Given the description of an element on the screen output the (x, y) to click on. 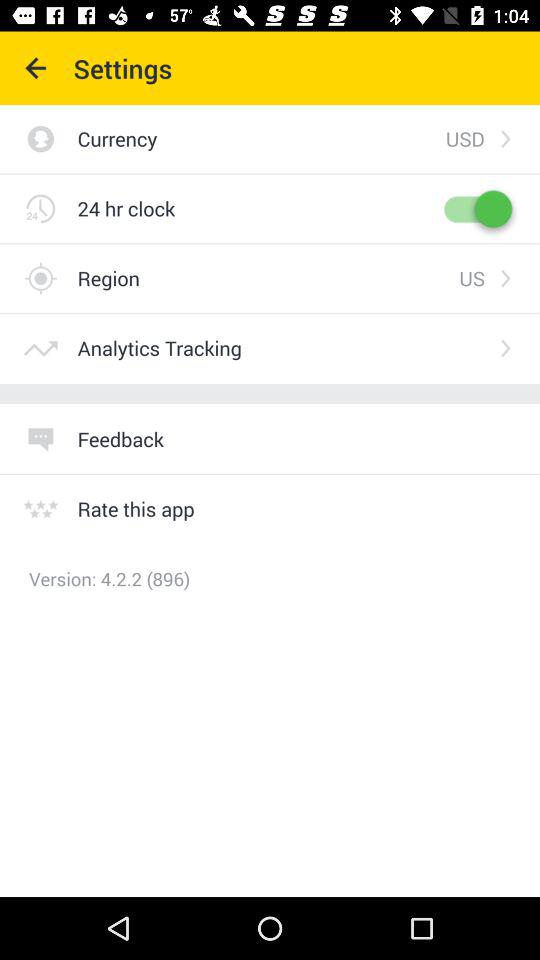
click the us (471, 278)
